Given the description of an element on the screen output the (x, y) to click on. 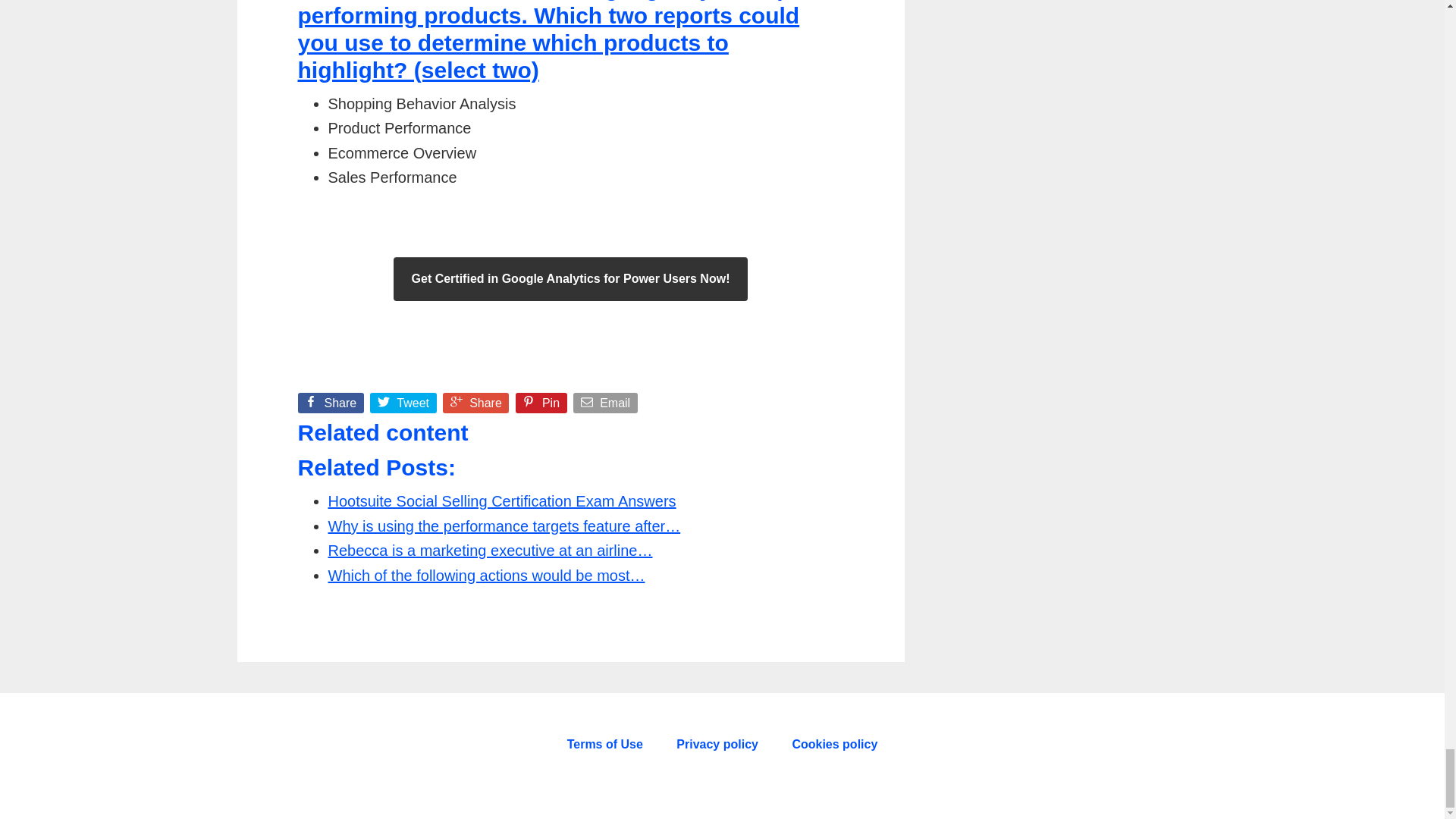
Share on Facebook (331, 406)
Email (606, 406)
Pin (542, 406)
Tweet (404, 406)
nofollow (834, 748)
nofollow (717, 748)
Share on Google (477, 406)
